Given the description of an element on the screen output the (x, y) to click on. 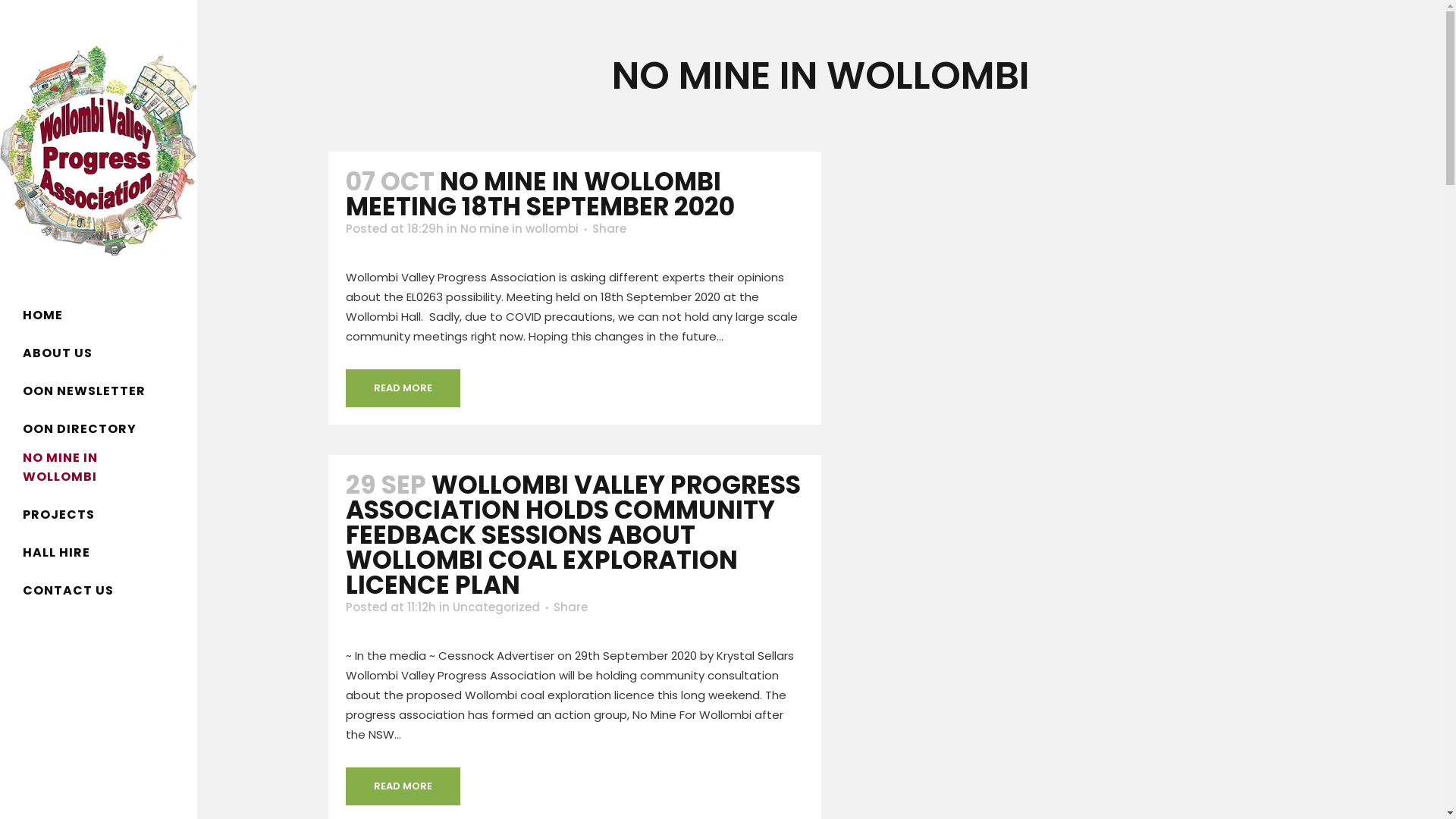
OON NEWSLETTER Element type: text (98, 391)
READ MORE Element type: text (403, 786)
PROJECTS Element type: text (98, 514)
No mine in wollombi Element type: text (518, 228)
ABOUT US Element type: text (98, 353)
HALL HIRE Element type: text (98, 552)
NO MINE IN WOLLOMBI Element type: text (98, 471)
Share Element type: text (570, 607)
NO MINE IN WOLLOMBI MEETING 18TH SEPTEMBER 2020 Element type: text (539, 193)
Uncategorized Element type: text (495, 607)
CONTACT US Element type: text (98, 590)
OON DIRECTORY Element type: text (98, 429)
HOME Element type: text (98, 315)
READ MORE Element type: text (403, 388)
Share Element type: text (608, 228)
